Given the description of an element on the screen output the (x, y) to click on. 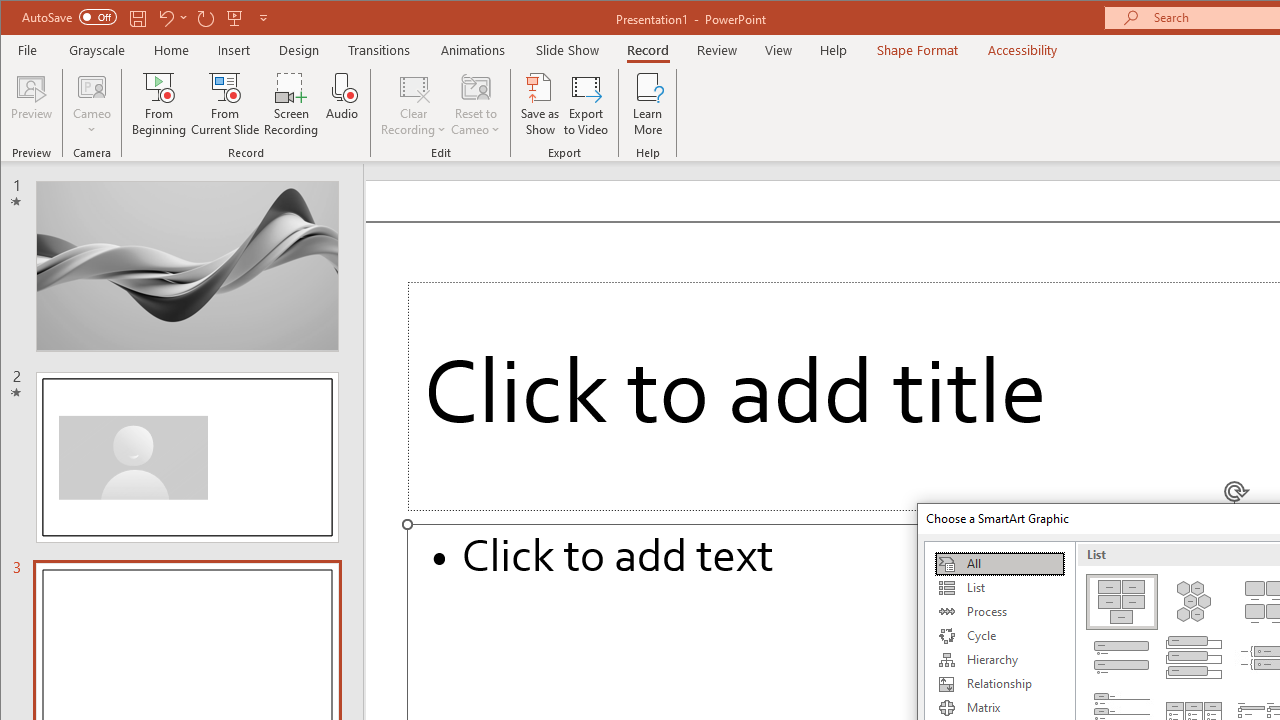
Learn More (648, 104)
Save as Show (539, 104)
List (999, 587)
Vertical Box List (1194, 658)
From Beginning... (159, 104)
